Given the description of an element on the screen output the (x, y) to click on. 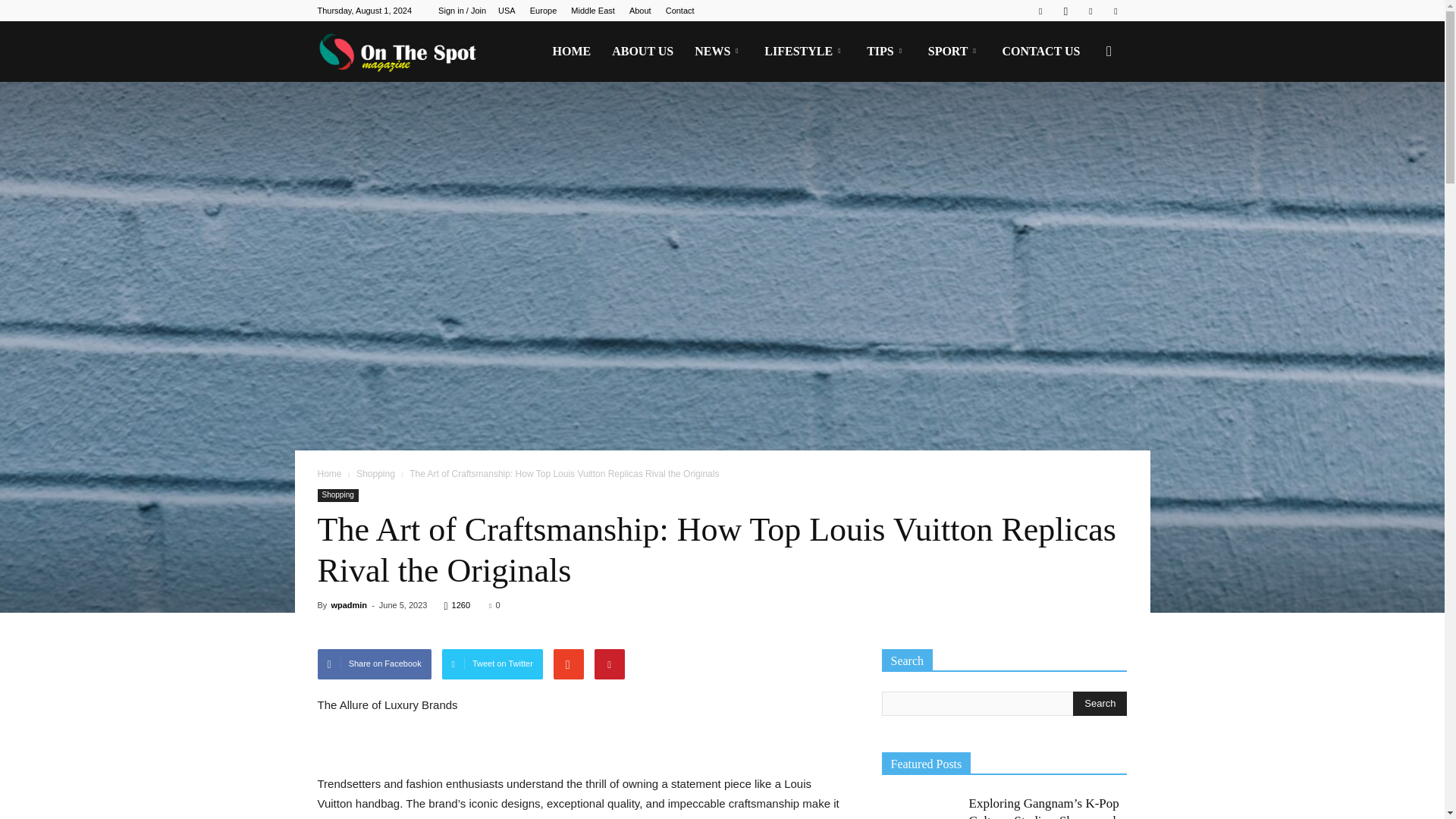
About (639, 10)
Facebook (1040, 10)
On The Spot Magazine (401, 51)
HOME (571, 51)
Contact (679, 10)
Europe (542, 10)
Search (1099, 703)
Twitter (1090, 10)
Youtube (1114, 10)
Middle East (592, 10)
NEWS (719, 51)
Instagram (1065, 10)
ABOUT US (642, 51)
USA (506, 10)
